Given the description of an element on the screen output the (x, y) to click on. 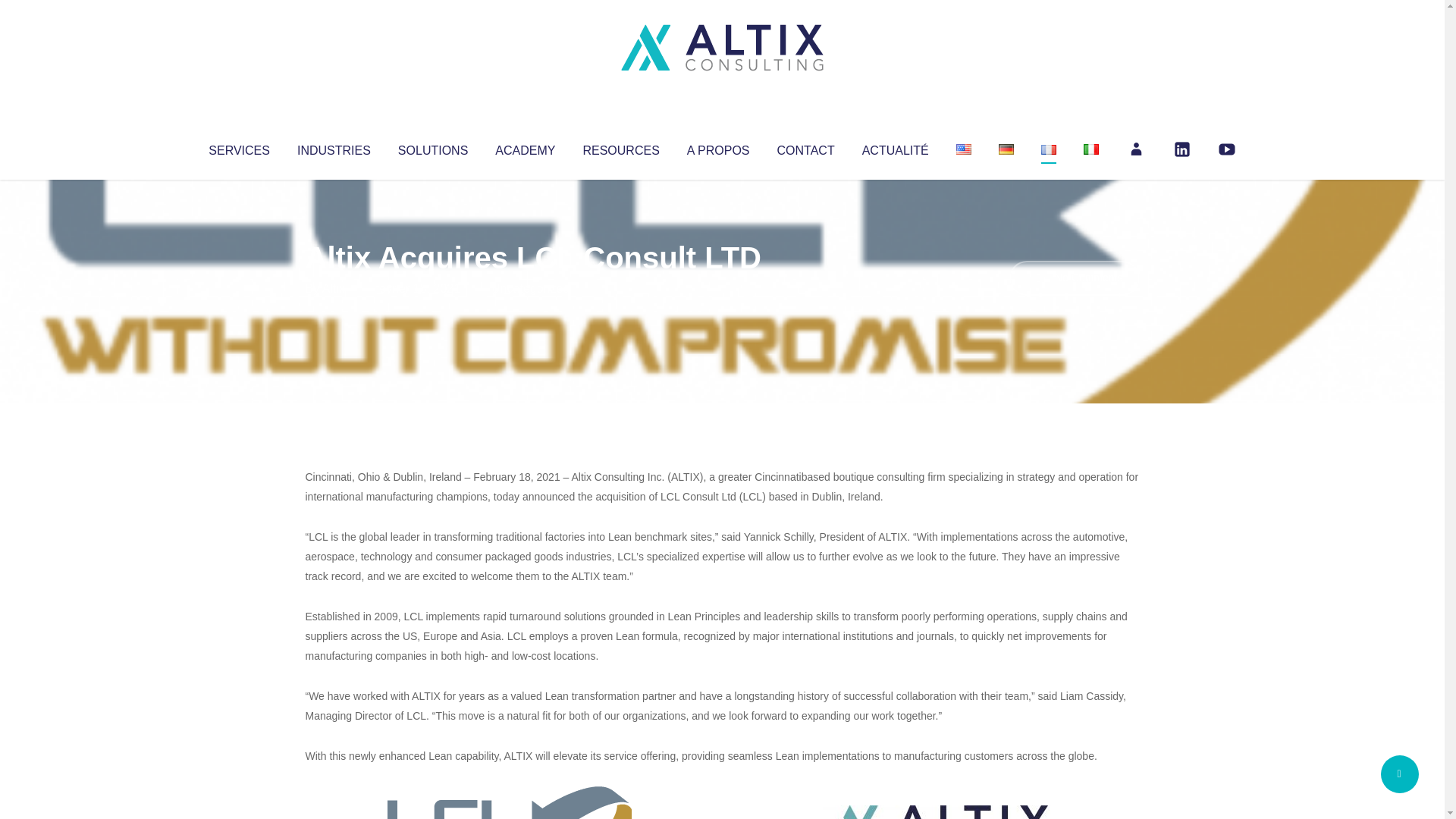
Uncategorized (530, 287)
INDUSTRIES (334, 146)
A PROPOS (718, 146)
Altix (333, 287)
SOLUTIONS (432, 146)
SERVICES (238, 146)
RESOURCES (620, 146)
No Comments (1073, 278)
ACADEMY (524, 146)
Articles par Altix (333, 287)
